Given the description of an element on the screen output the (x, y) to click on. 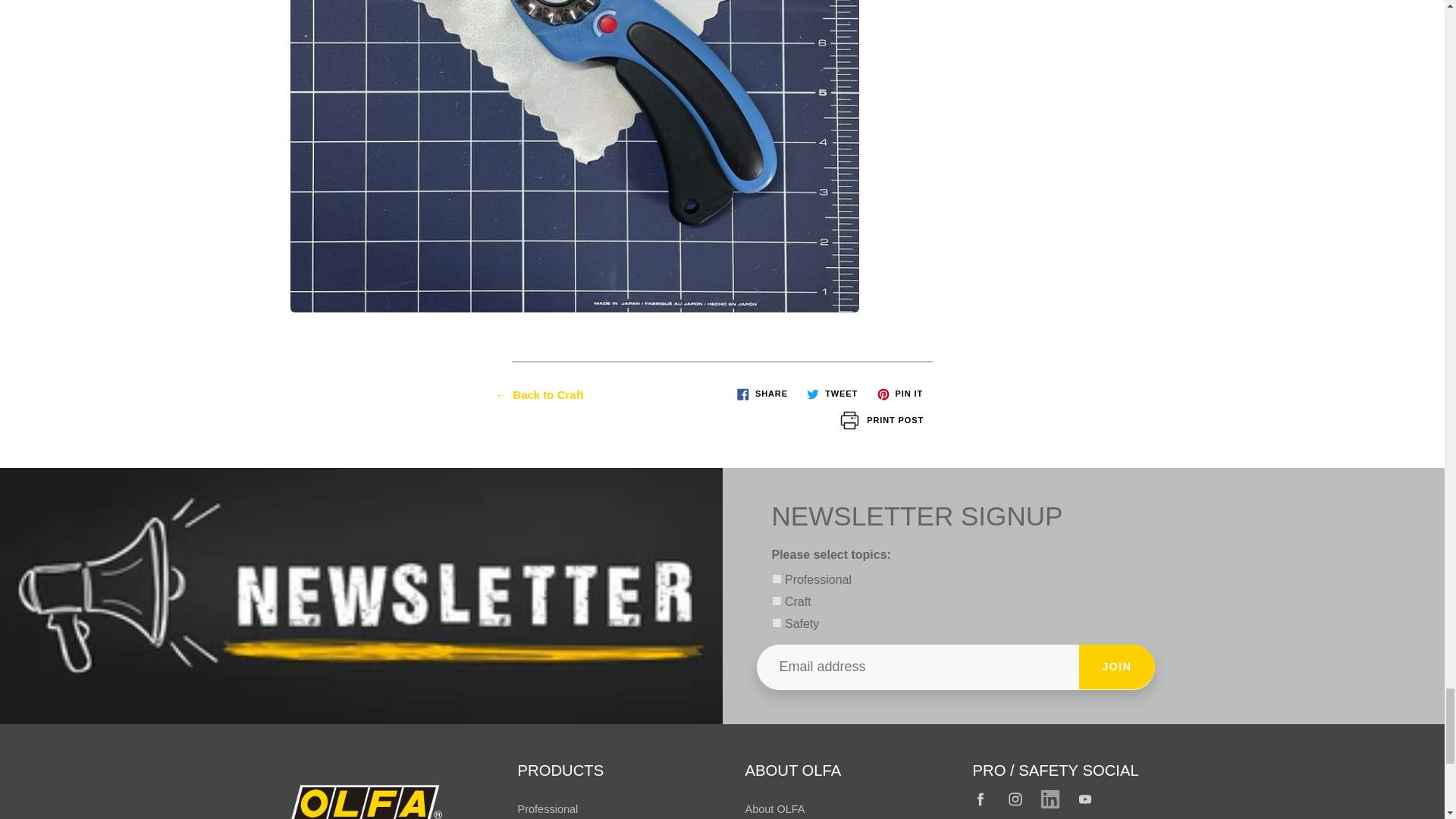
news-pro (776, 578)
Linked In (1050, 799)
Share on Facebook (761, 393)
YouTube (1085, 799)
Instagram (1016, 799)
Tweet on Twitter (831, 393)
Pin on Pinterest (899, 393)
news-craft (776, 601)
news-safety (776, 623)
Facebook (981, 799)
